Given the description of an element on the screen output the (x, y) to click on. 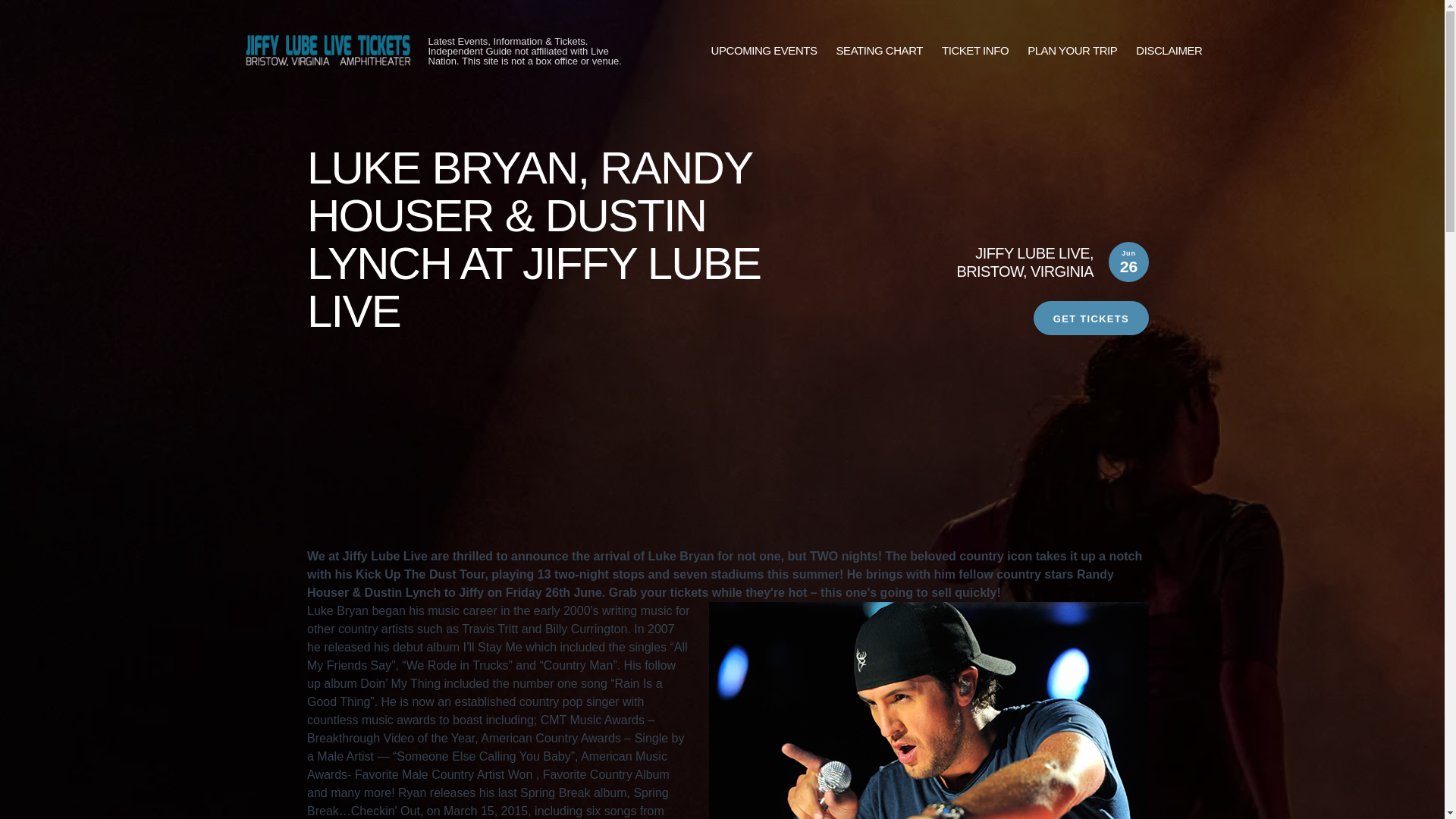
DISCLAIMER (1168, 50)
PLAN YOUR TRIP (1071, 50)
SEATING CHART (879, 50)
UPCOMING EVENTS (763, 50)
TICKET INFO (975, 50)
GET TICKETS (1090, 317)
